Given the description of an element on the screen output the (x, y) to click on. 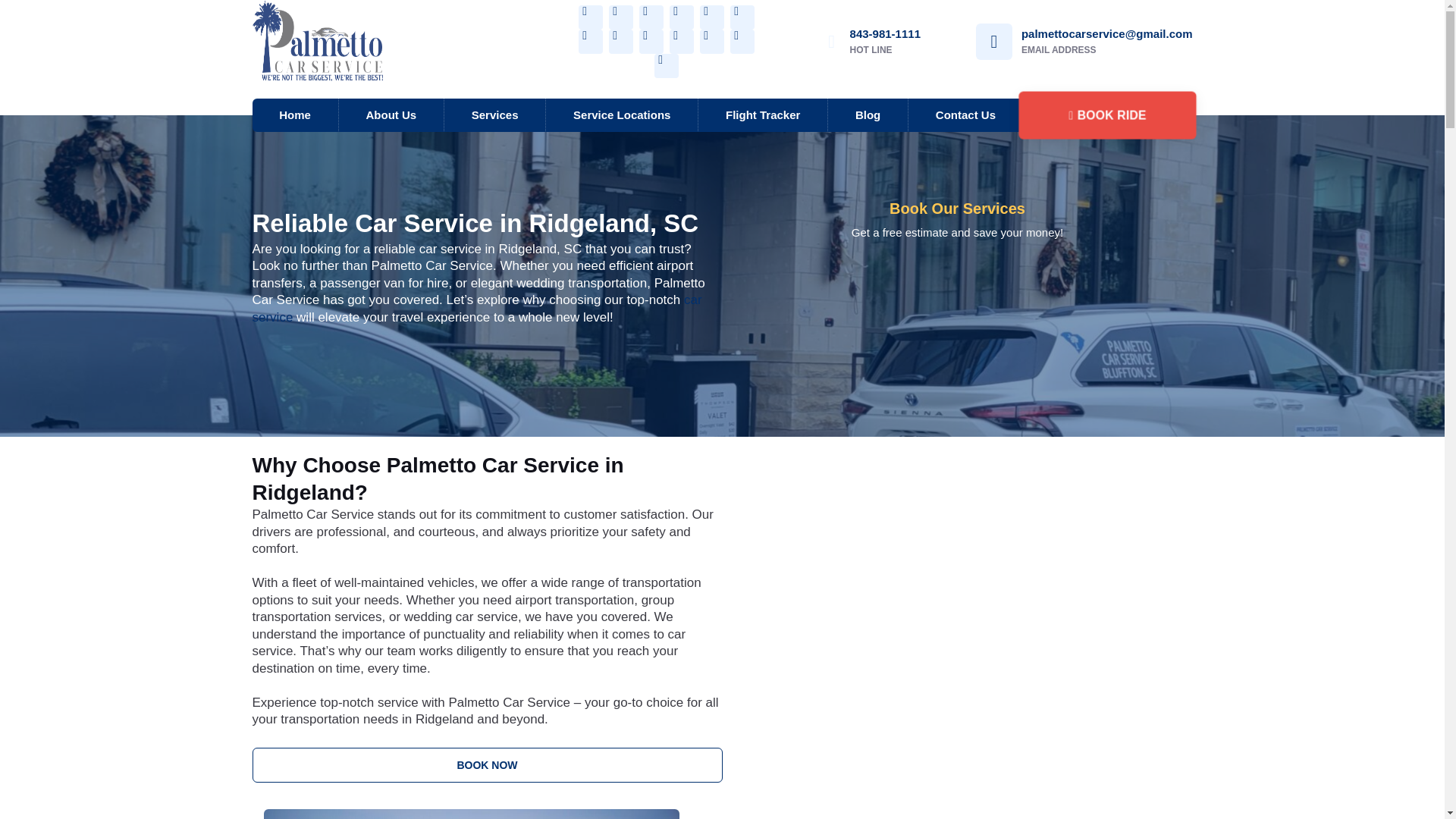
Facebook-f (590, 16)
Twitter (742, 16)
Home (294, 114)
Tripadvisor (590, 41)
Pinterest (711, 16)
About Us (391, 114)
Yelp (620, 16)
Youtube (651, 16)
Vimeo (681, 41)
Instagram (681, 16)
Medium (742, 41)
Service Locations (621, 114)
Mastodon (665, 65)
Services (494, 114)
Yahoo (620, 41)
